Given the description of an element on the screen output the (x, y) to click on. 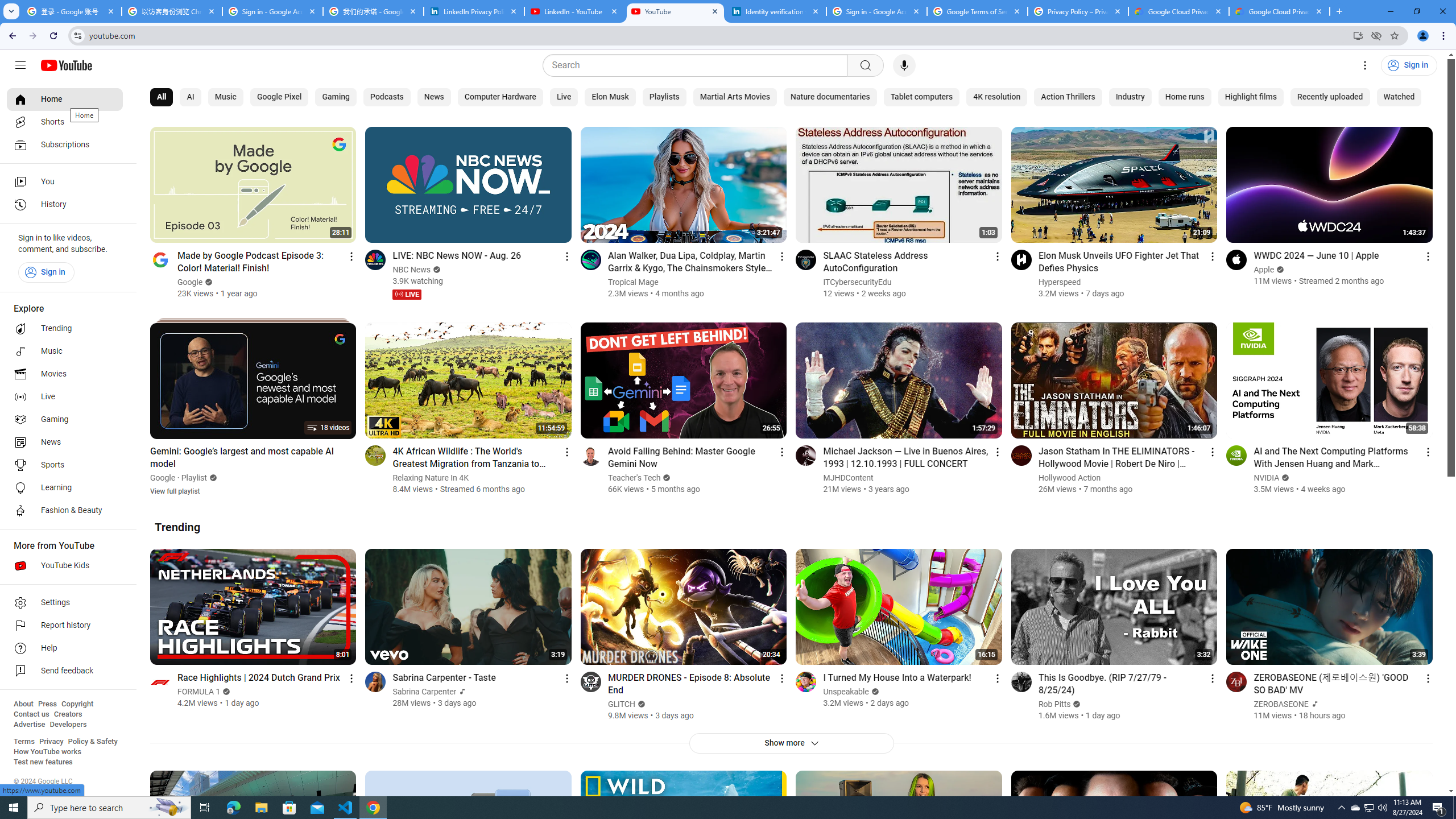
How YouTube works (47, 751)
LinkedIn - YouTube (574, 11)
Podcasts (387, 97)
Terms (23, 741)
Creators (67, 714)
All (161, 97)
Live (64, 396)
Settings (1365, 65)
YouTube Kids (64, 565)
Google Cloud Privacy Notice (1178, 11)
